Given the description of an element on the screen output the (x, y) to click on. 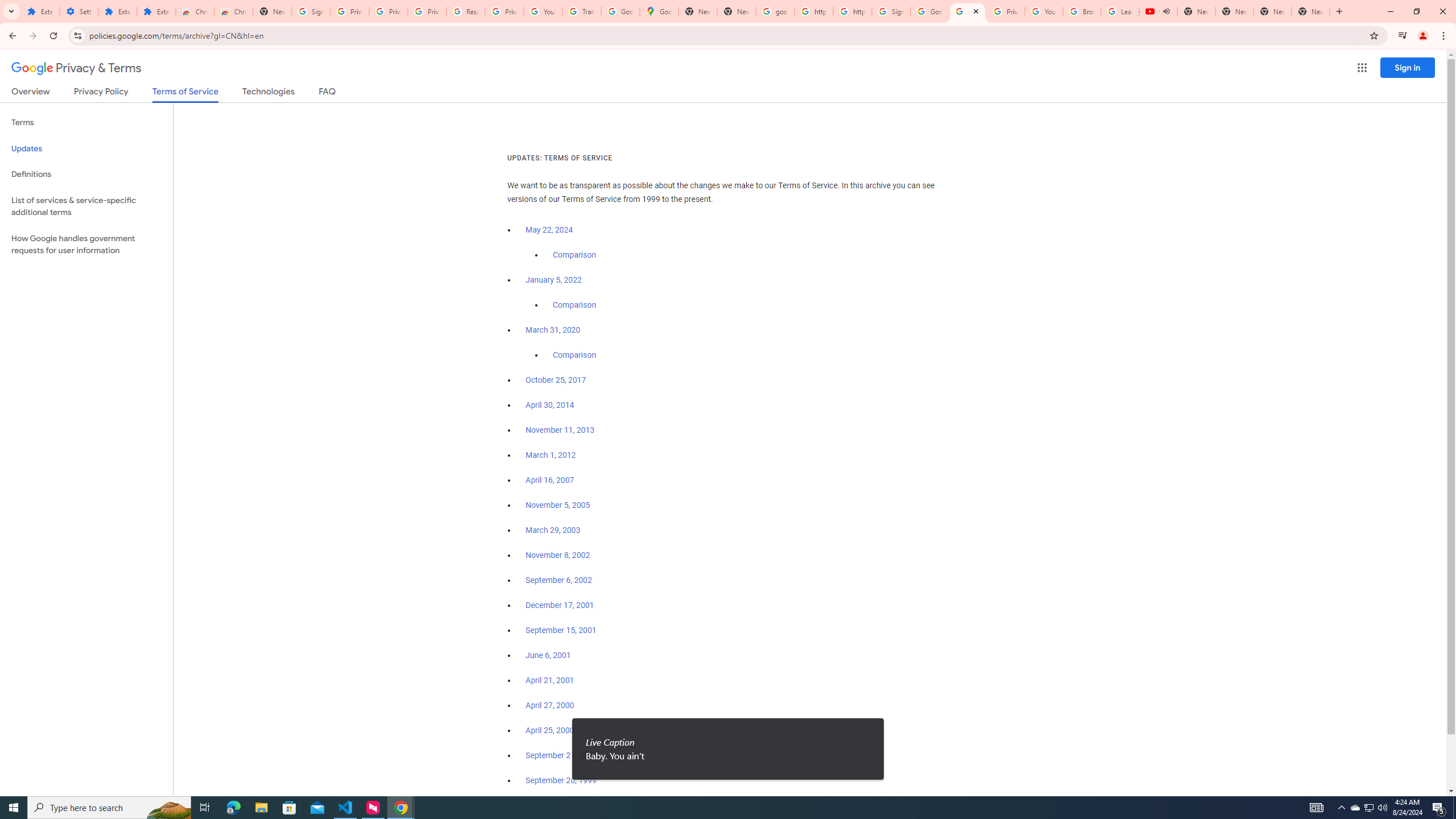
April 30, 2014 (550, 405)
December 17, 2001 (559, 605)
March 31, 2020 (552, 330)
April 16, 2007 (550, 480)
April 27, 2000 (550, 705)
